Given the description of an element on the screen output the (x, y) to click on. 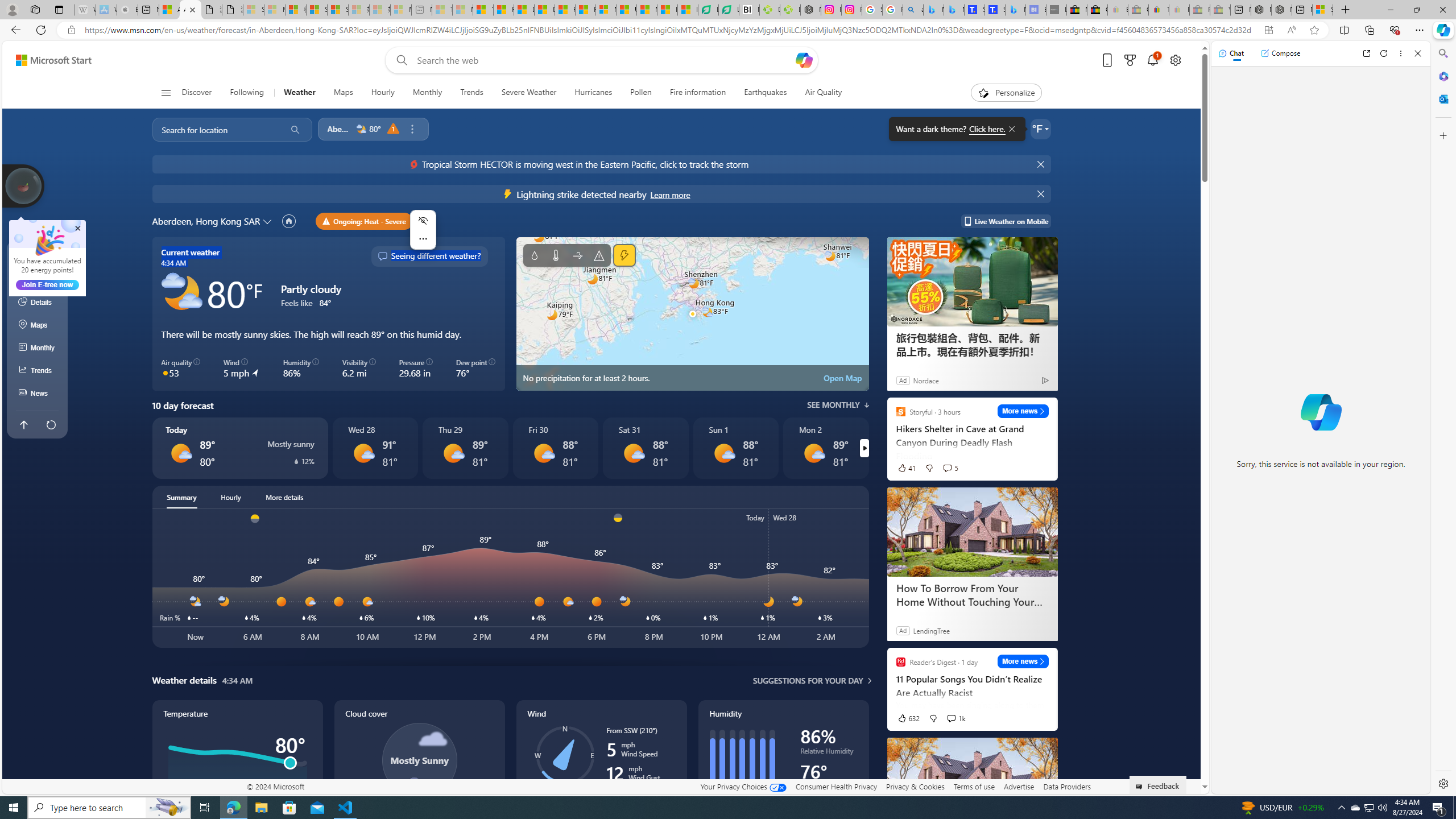
Aberdeen, Hong Kong SAR weather forecast | Microsoft Weather (189, 9)
Join us in planting real trees to help our planet! (23, 184)
Wind (577, 254)
Microsoft Bing Travel - Flights from Hong Kong to Bangkok (933, 9)
